Given the description of an element on the screen output the (x, y) to click on. 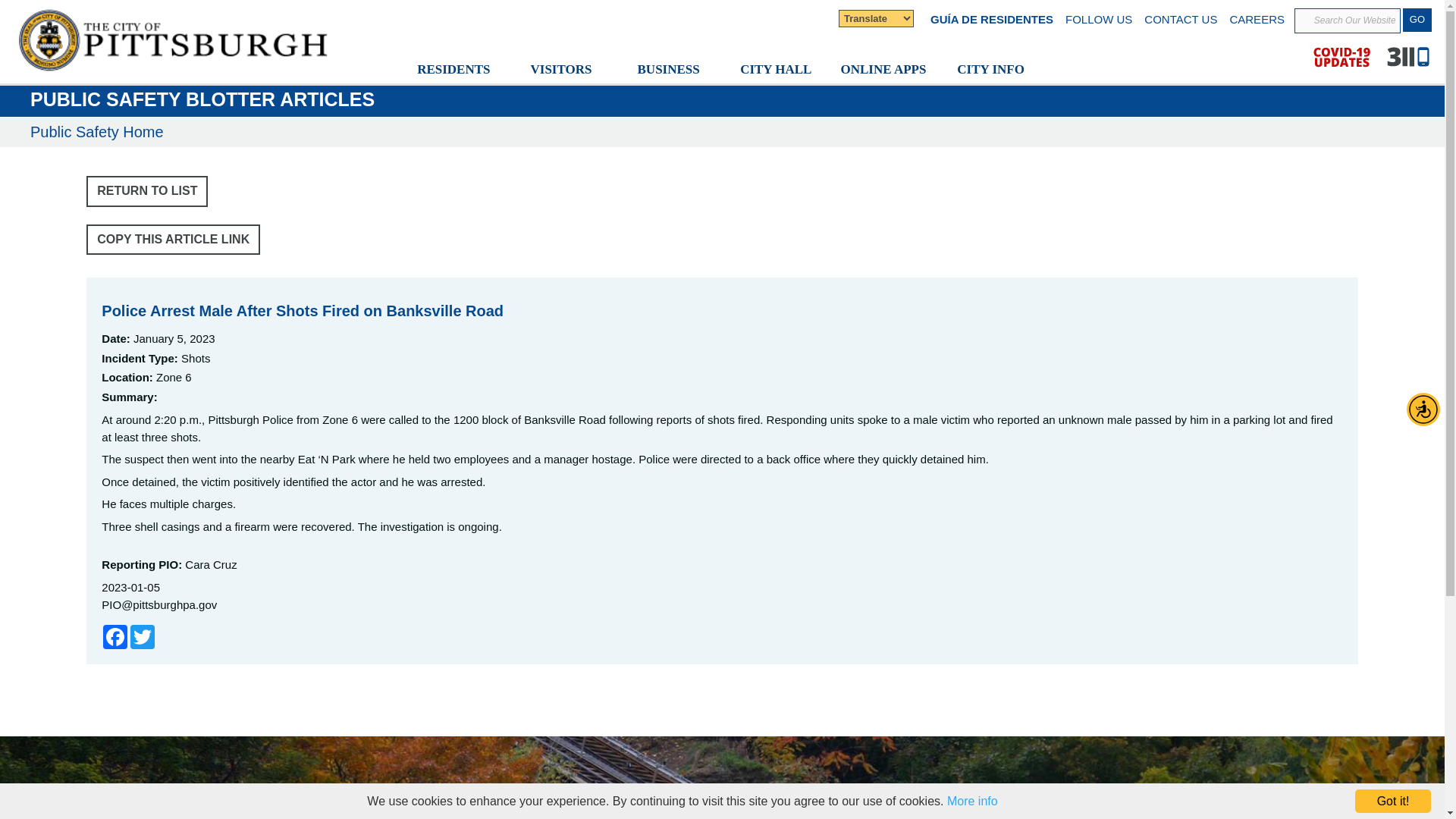
Residents (454, 69)
Accessibility Menu (1422, 409)
